Given the description of an element on the screen output the (x, y) to click on. 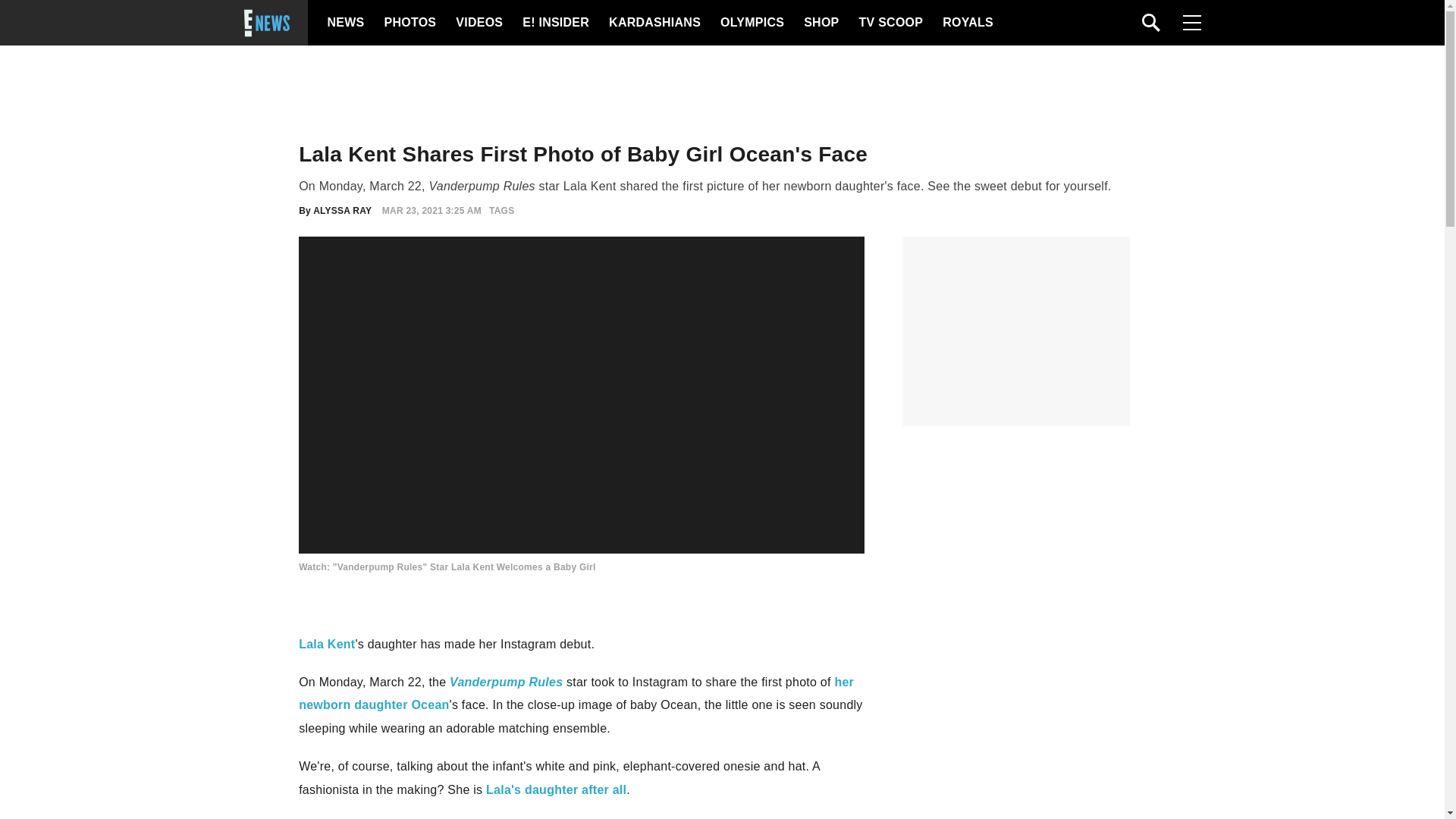
Lala Kent (326, 644)
NEWS (345, 22)
E! INSIDER (555, 22)
VIDEOS (478, 22)
Lala's daughter after all (556, 789)
ALYSSA RAY (342, 210)
Vanderpump Rules (505, 681)
TV SCOOP (890, 22)
PHOTOS (408, 22)
KARDASHIANS (653, 22)
